Given the description of an element on the screen output the (x, y) to click on. 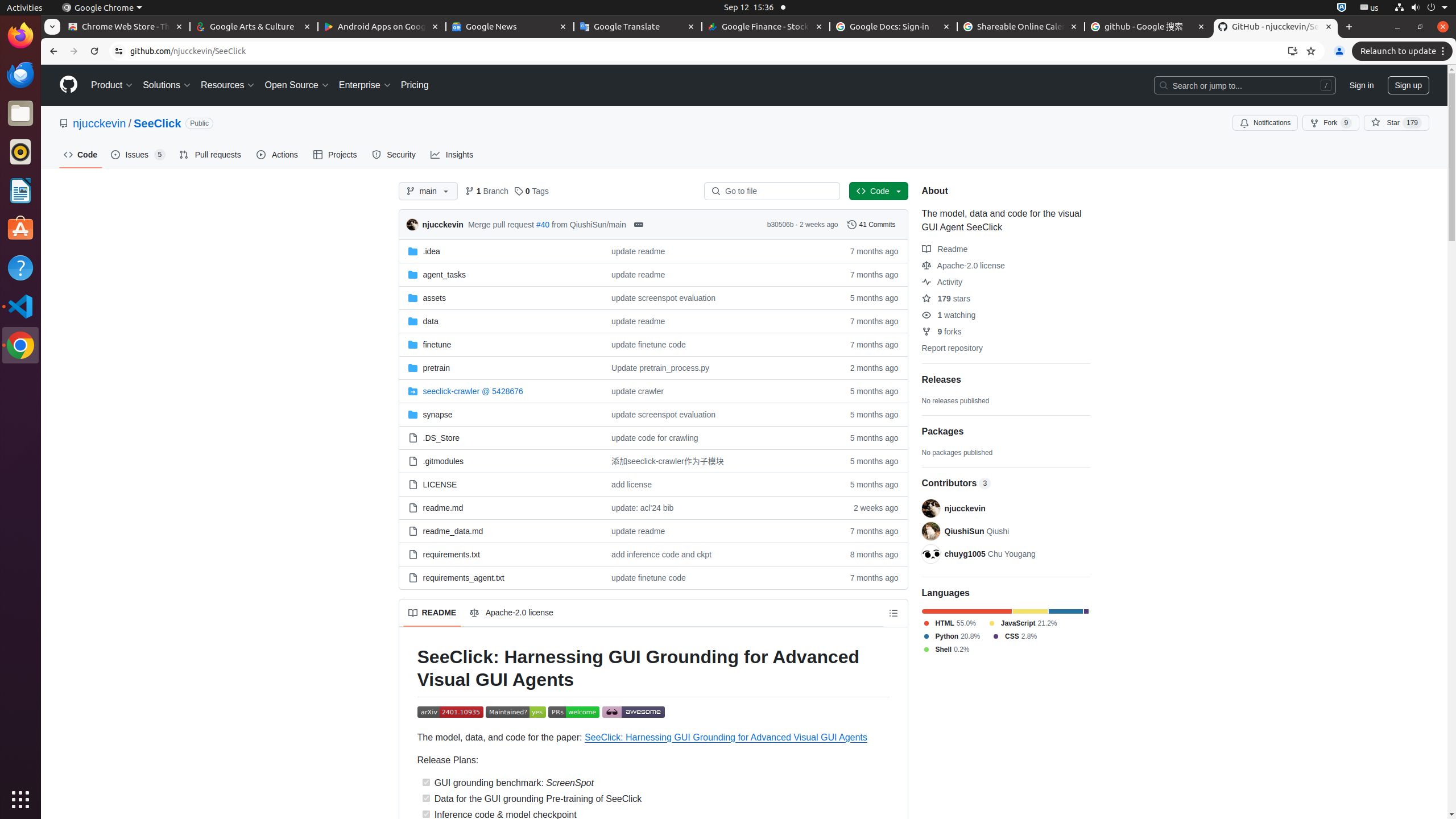
agent_tasks, (Directory) Element type: table-cell (500, 274)
Google Chrome Element type: menu (101, 7)
.DS_Store, (File) Element type: link (441, 437)
chuyg1005 Chu Yougang Element type: link (989, 553)
update screenspot evaluation Element type: table-cell (716, 413)
